Given the description of an element on the screen output the (x, y) to click on. 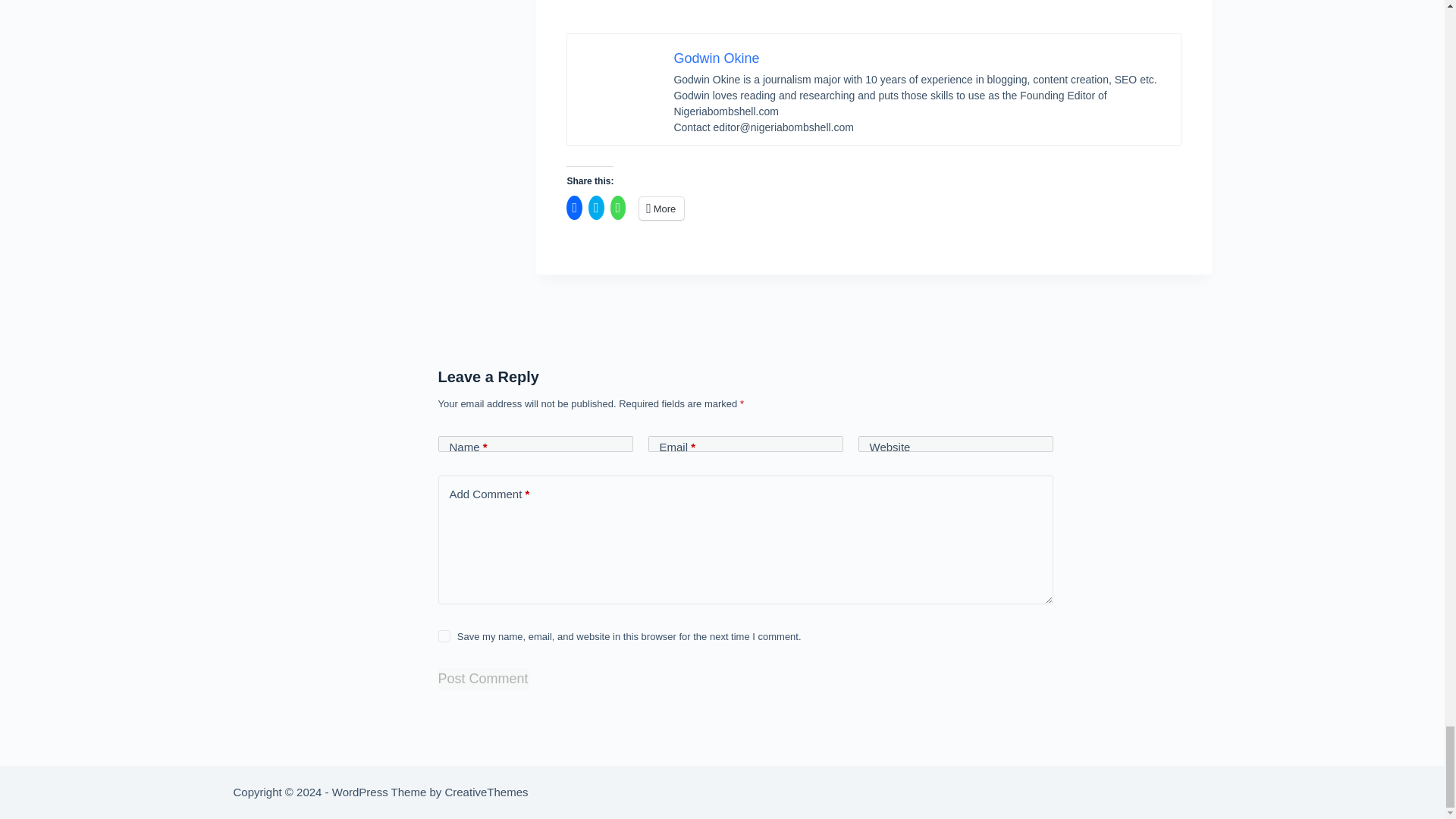
yes (443, 635)
